Given the description of an element on the screen output the (x, y) to click on. 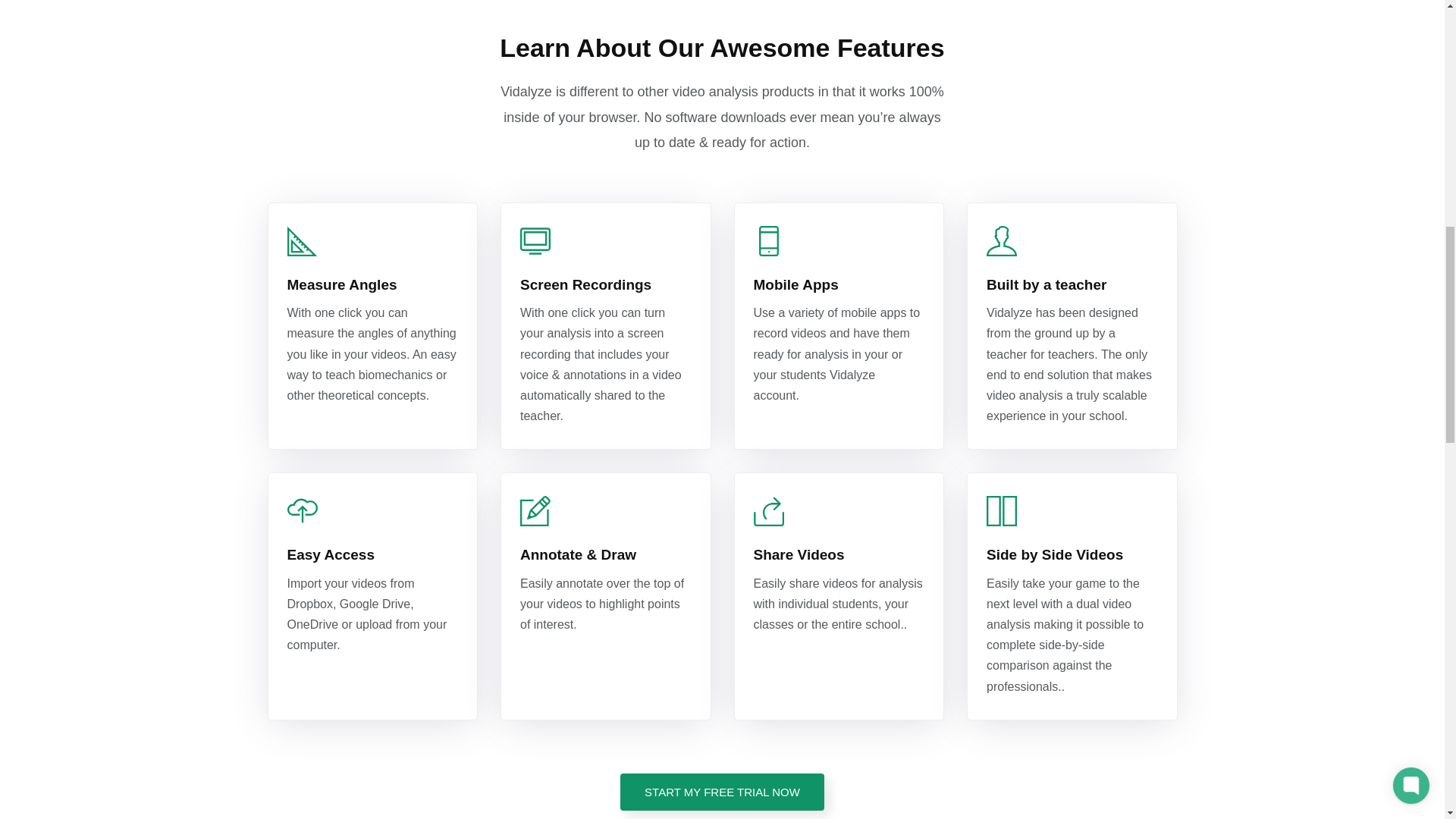
START MY FREE TRIAL NOW (722, 791)
